Given the description of an element on the screen output the (x, y) to click on. 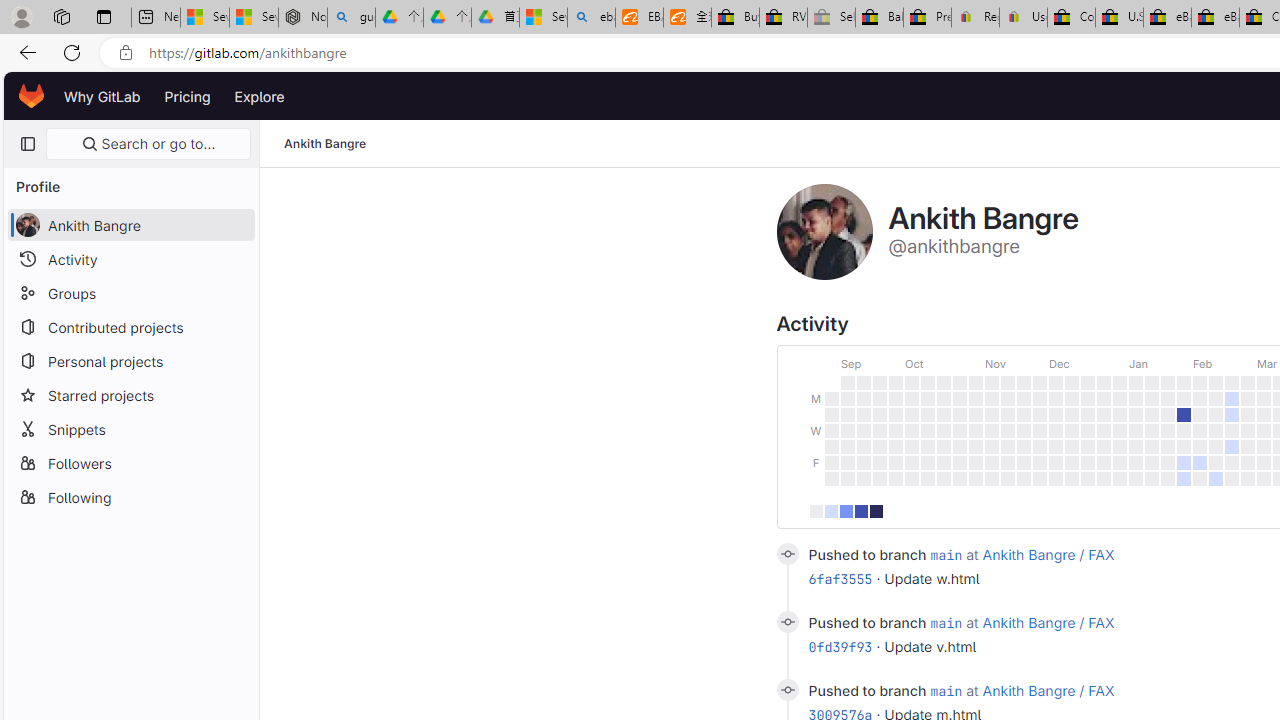
Ankith Bangre / FAX (1047, 690)
Buy Auto Parts & Accessories | eBay (735, 17)
Pricing (187, 95)
